Given the description of an element on the screen output the (x, y) to click on. 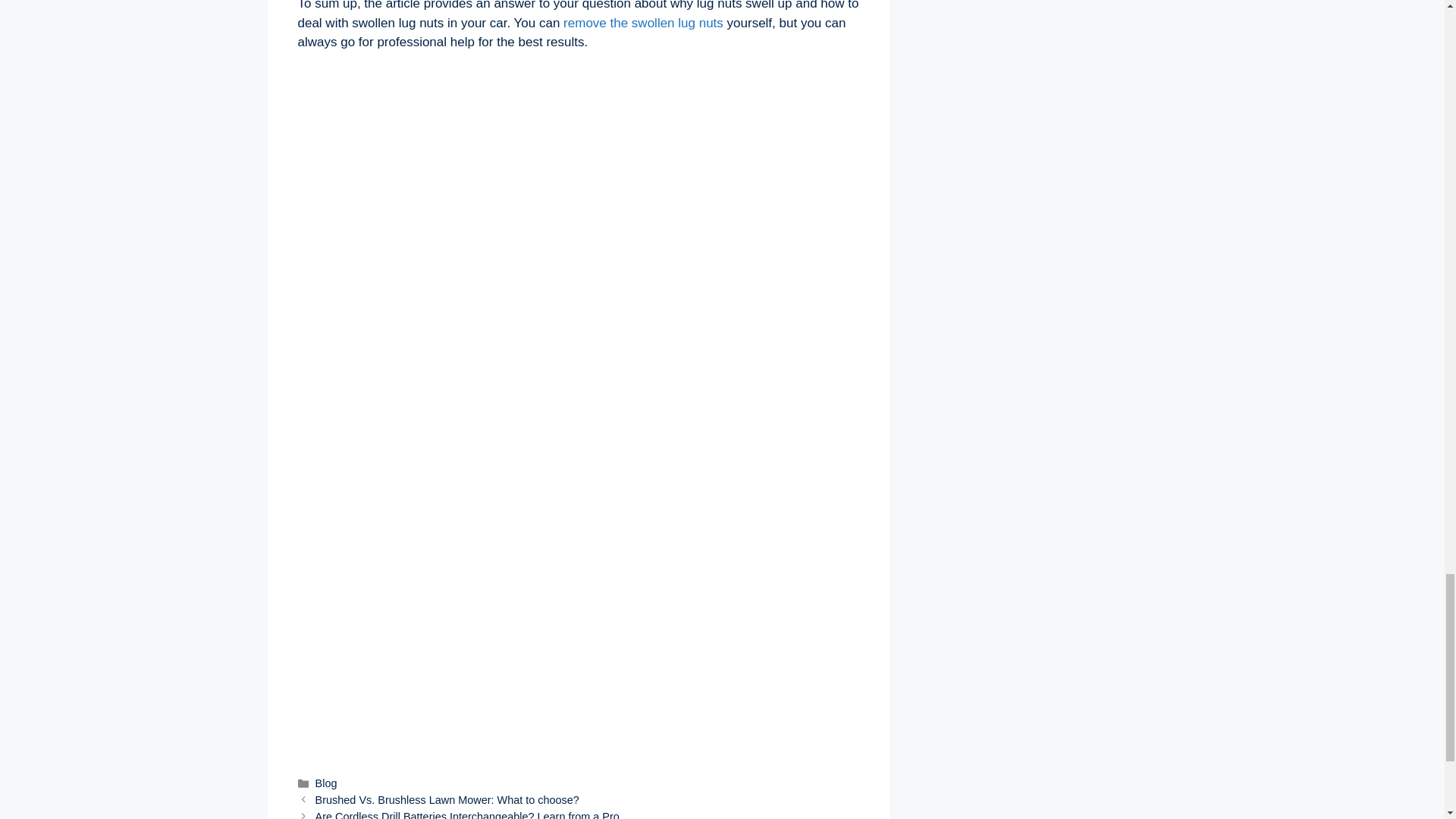
Brushed Vs. Brushless Lawn Mower: What to choose? (447, 799)
Blog (326, 783)
remove the swollen lug nuts (643, 22)
